Given the description of an element on the screen output the (x, y) to click on. 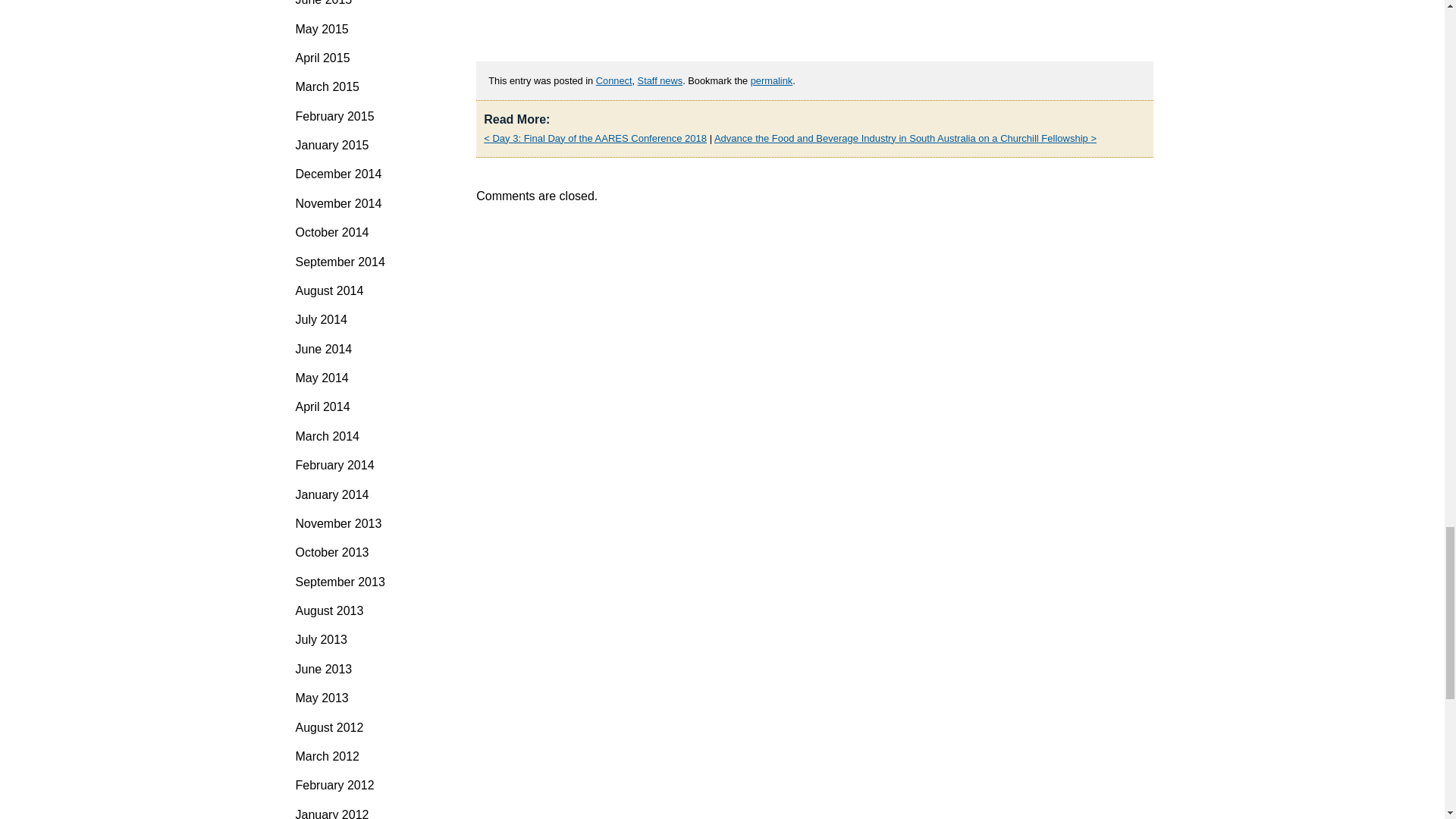
Permalink to New Staff and Students joining GFAR (771, 80)
